Given the description of an element on the screen output the (x, y) to click on. 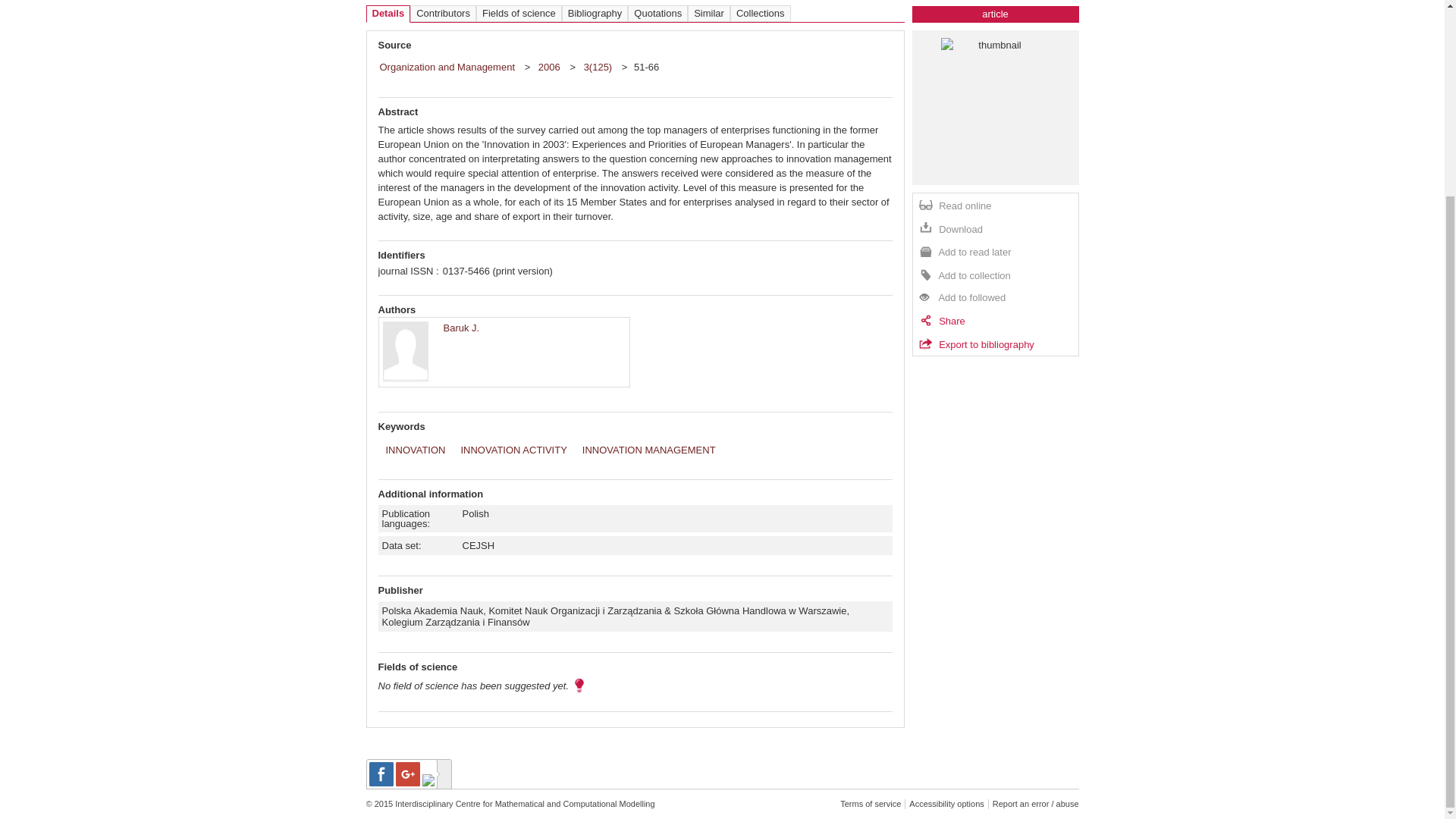
2006 (550, 67)
Collections (760, 13)
Bibliography (595, 13)
Baruk J. (460, 327)
Contributors (443, 13)
Terms of service (870, 803)
Suggest fields of science (579, 689)
Fields of science (519, 13)
Details (387, 13)
Organization and Management (447, 67)
Similar (708, 13)
Quotations (657, 13)
